Given the description of an element on the screen output the (x, y) to click on. 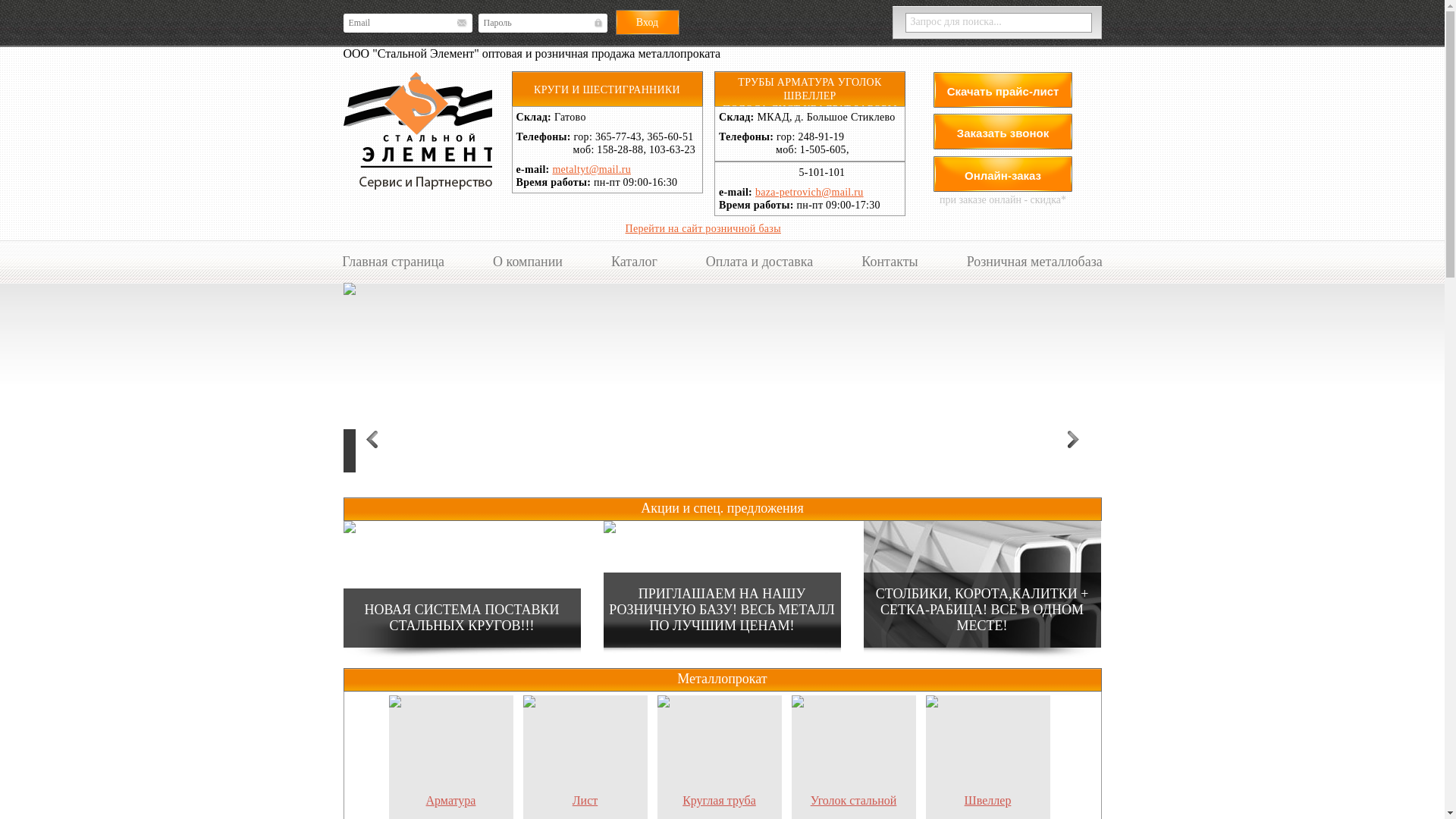
baza-petrovich@mail.ru Element type: text (809, 191)
metaltyt@mail.ru Element type: text (591, 169)
